Given the description of an element on the screen output the (x, y) to click on. 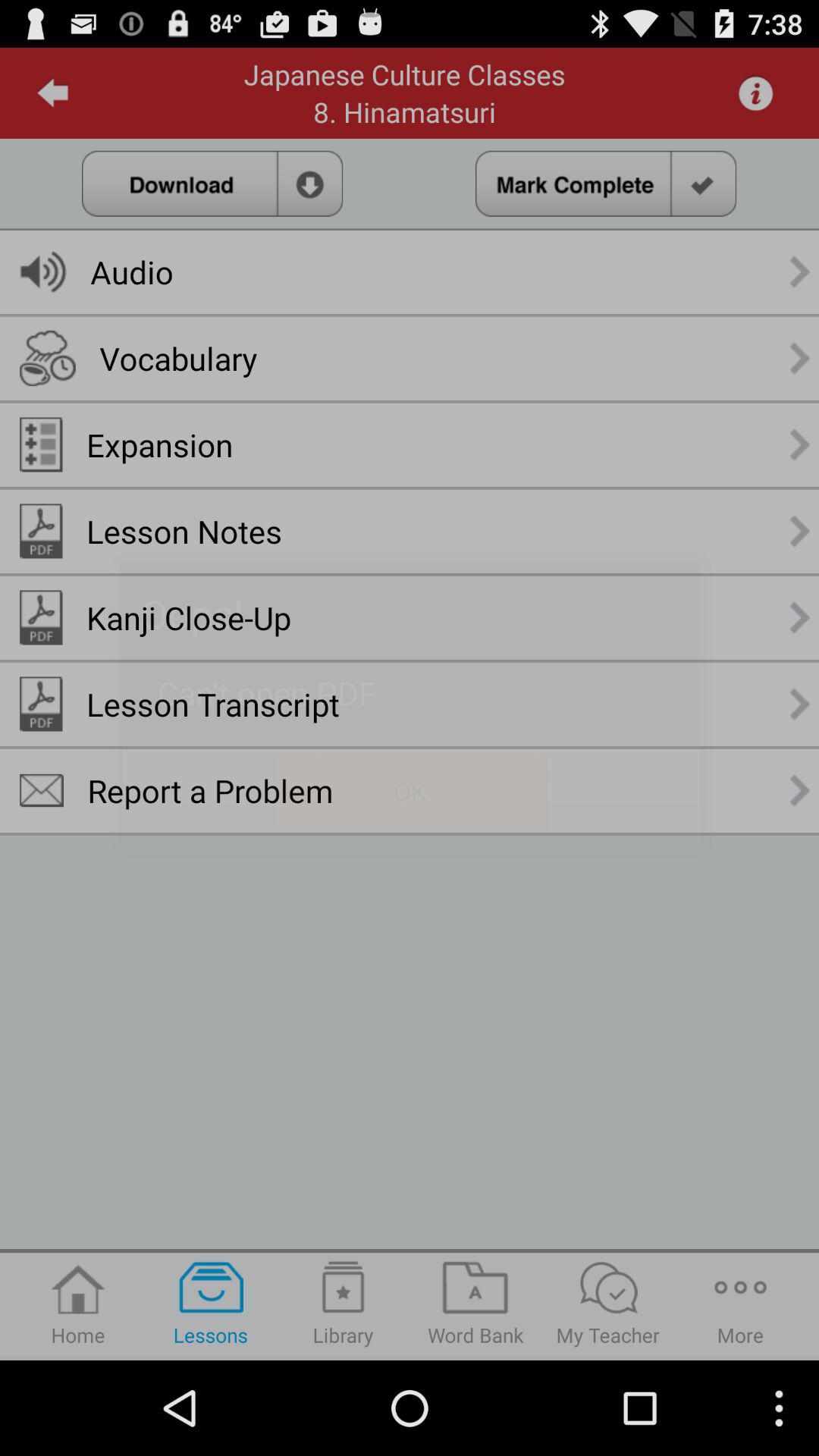
click on the button next to my teacher (740, 1304)
click on the icon beside the expansion (41, 444)
click on the arrow button beside the text report a problem (800, 790)
click on the icon above library (342, 1287)
